Given the description of an element on the screen output the (x, y) to click on. 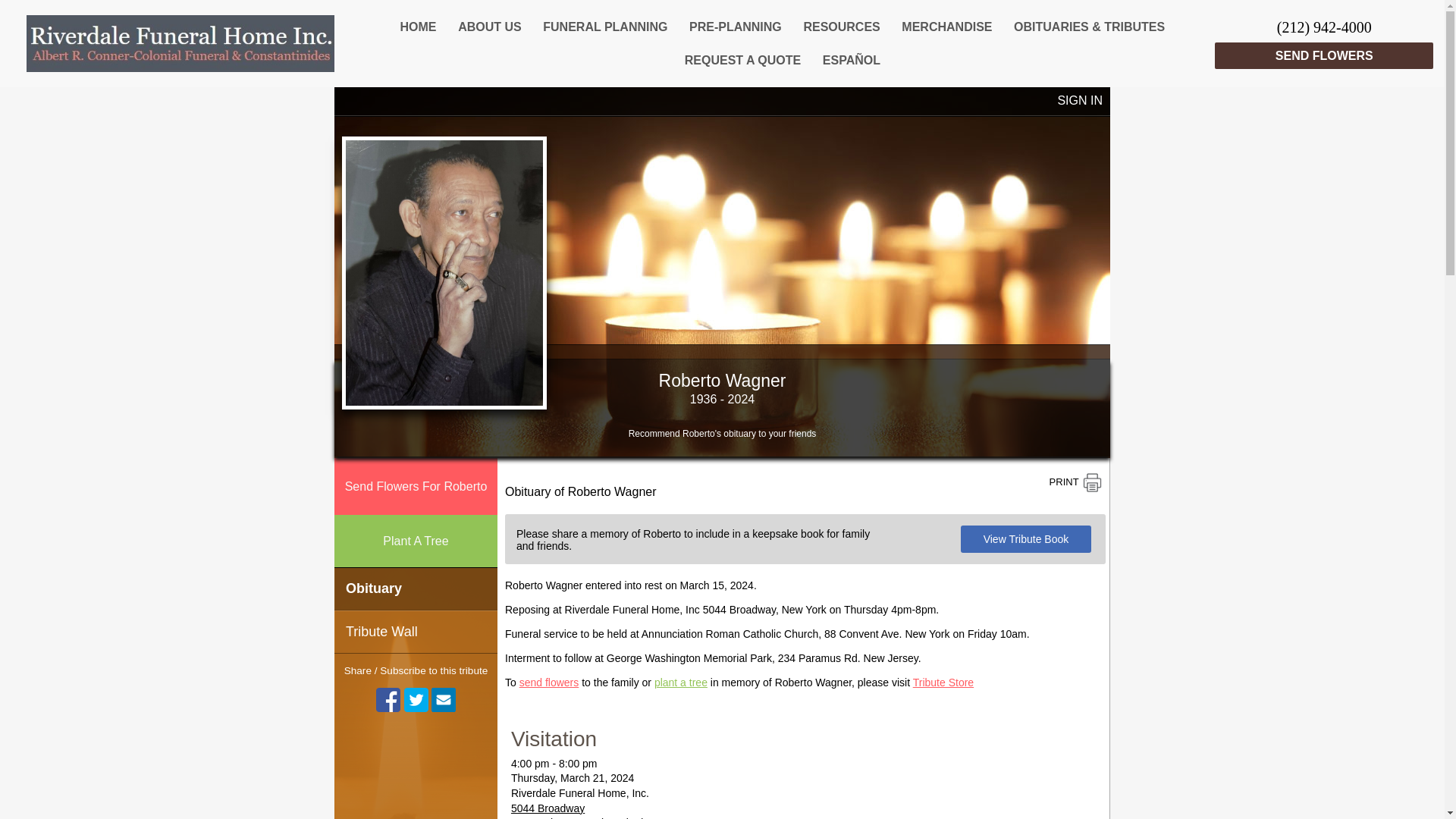
PRE-PLANNING (735, 26)
Plant A Tree (415, 541)
RESOURCES (841, 26)
Receive Notifications (442, 699)
Print (1075, 482)
MERCHANDISE (947, 26)
Facebook (387, 699)
HOME (417, 26)
FUNERAL PLANNING (605, 26)
ABOUT US (489, 26)
